Given the description of an element on the screen output the (x, y) to click on. 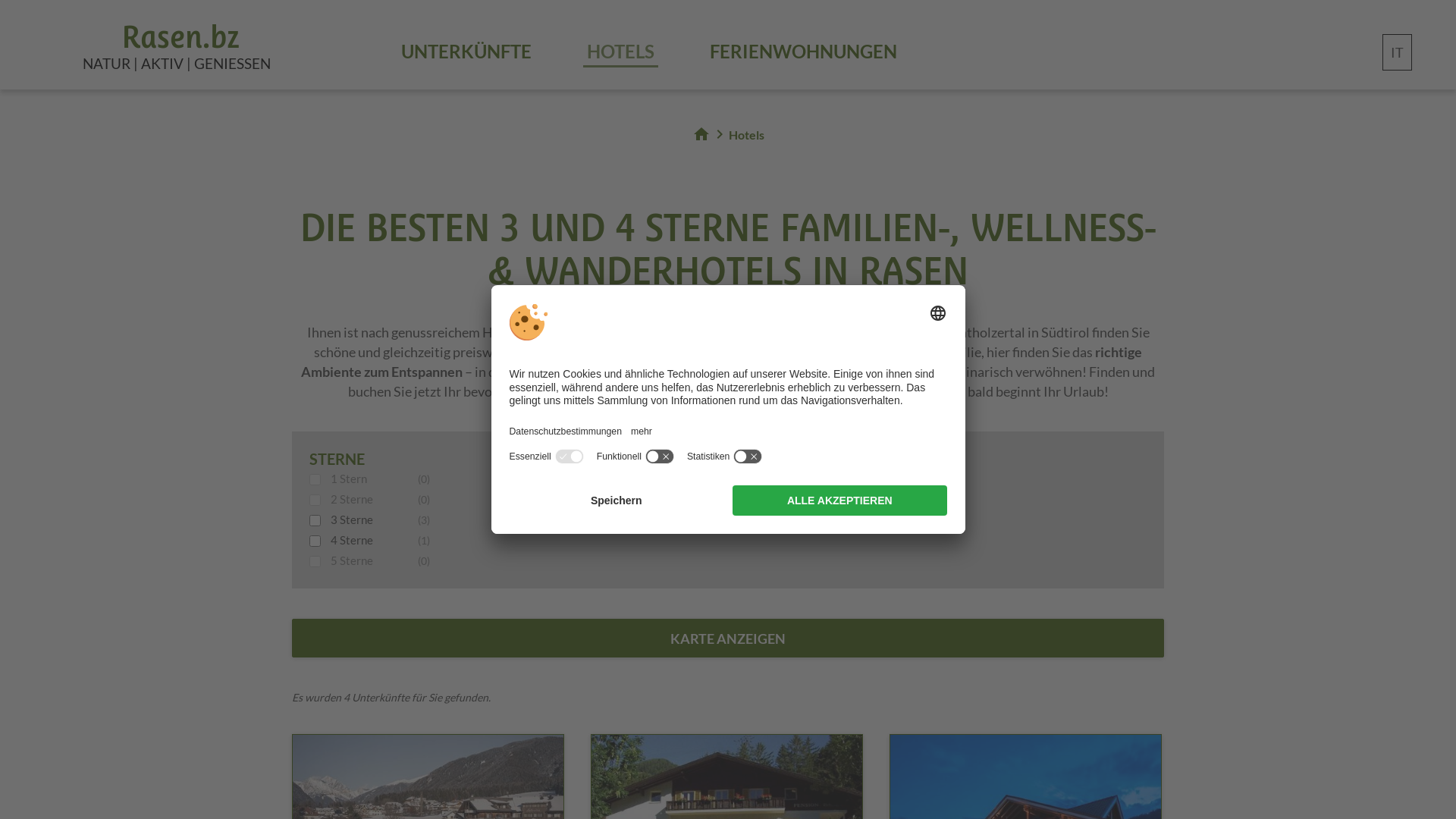
Rasen.bz Element type: text (176, 41)
HOTELS Element type: text (620, 52)
FERIENWOHNUNGEN Element type: text (803, 52)
IT Element type: text (1397, 51)
KARTE ANZEIGEN Element type: text (727, 637)
home Element type: text (700, 134)
